Given the description of an element on the screen output the (x, y) to click on. 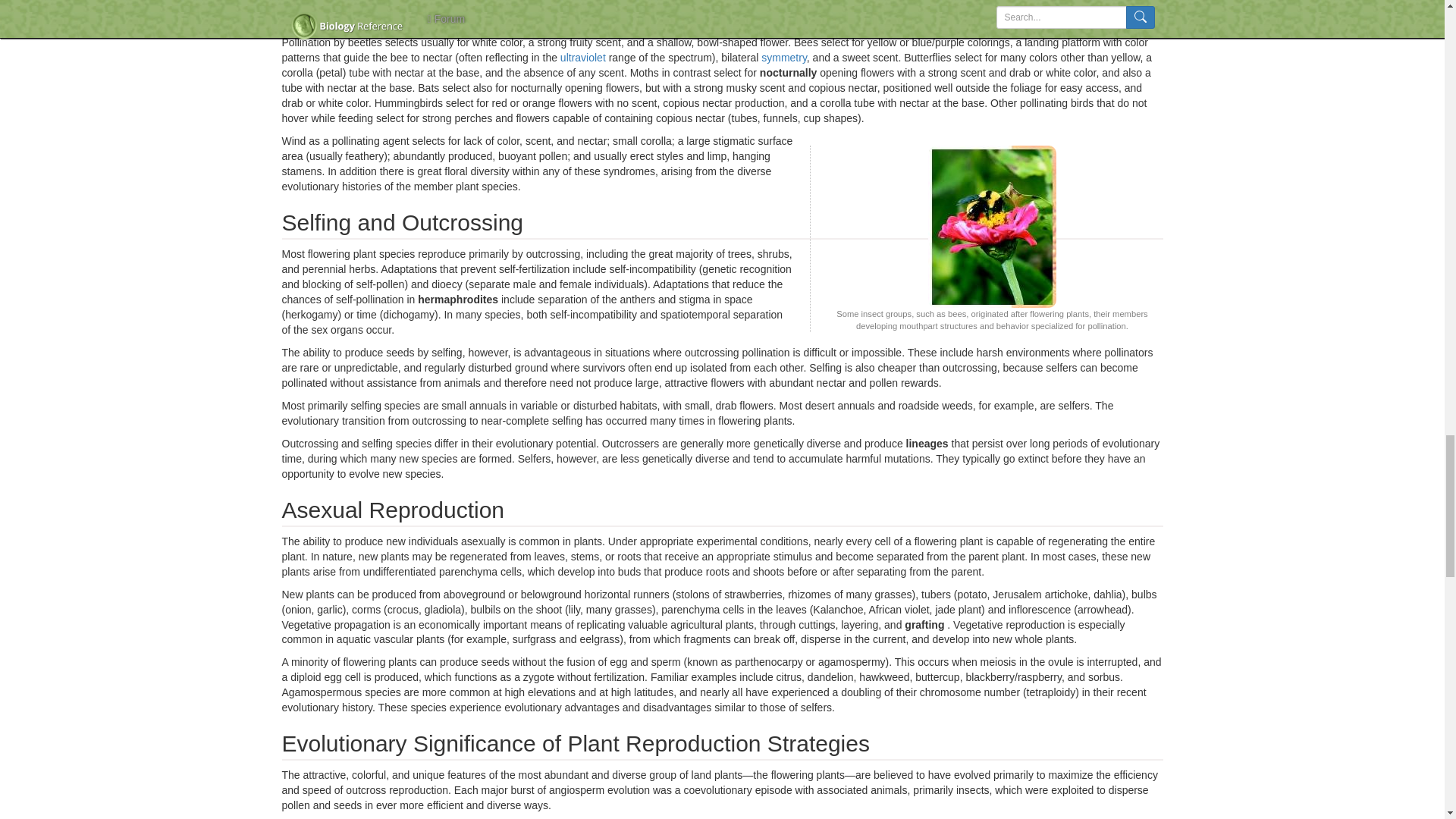
symmetry (783, 57)
ultraviolet (582, 57)
View 'ultraviolet' definition from Wikipedia (582, 57)
View 'symmetry' definition from Wikipedia (783, 57)
